Given the description of an element on the screen output the (x, y) to click on. 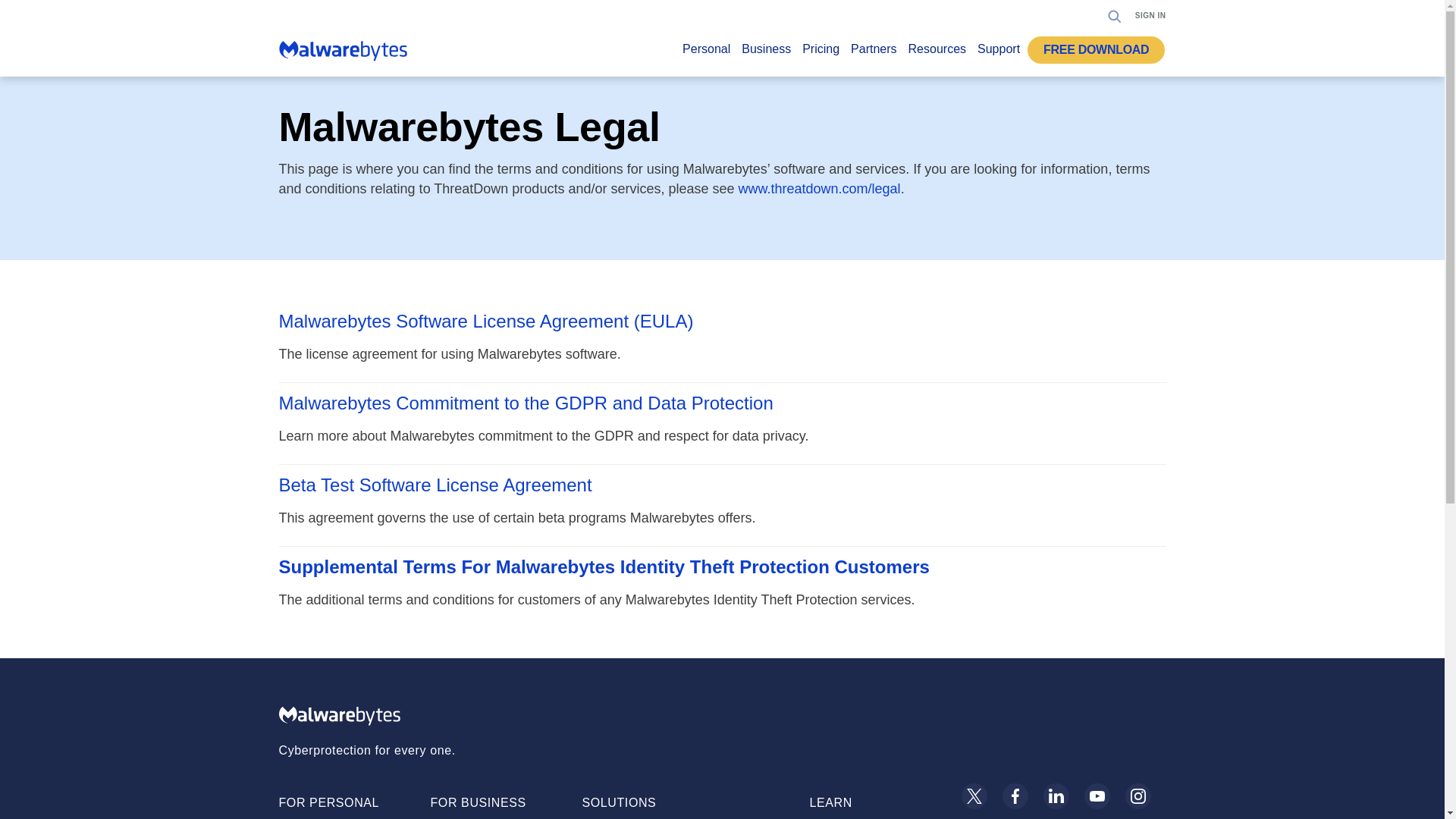
Search (1114, 15)
Business (765, 52)
SIGN IN (1150, 15)
Personal (706, 52)
Search (1110, 62)
